Given the description of an element on the screen output the (x, y) to click on. 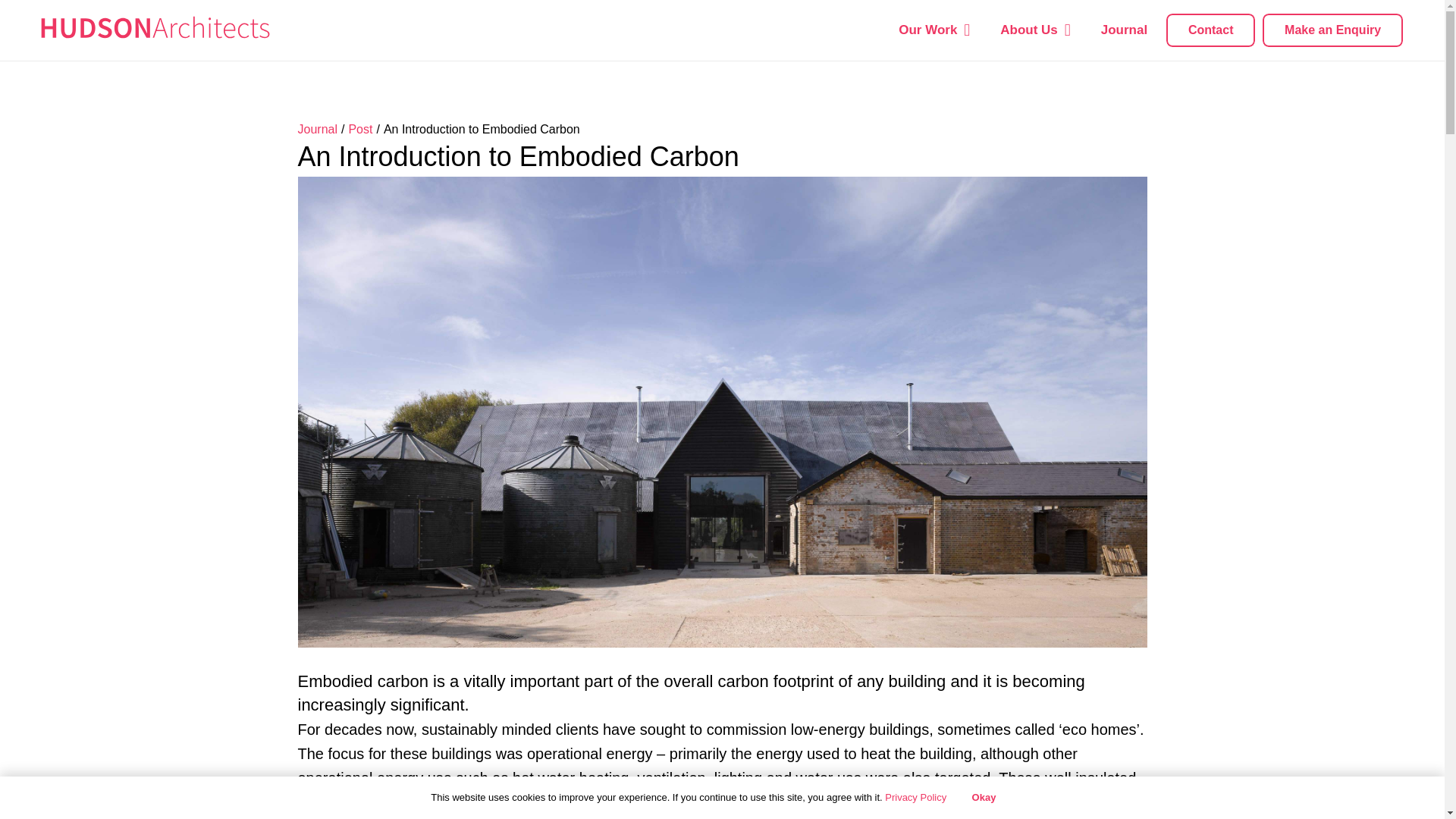
Our Work (934, 30)
Make an Enquiry (1332, 30)
Journal (1123, 30)
An Introduction to Embodied Carbon (481, 128)
Journal (316, 128)
Contact (1210, 30)
About Us (1034, 30)
Post (359, 128)
